Given the description of an element on the screen output the (x, y) to click on. 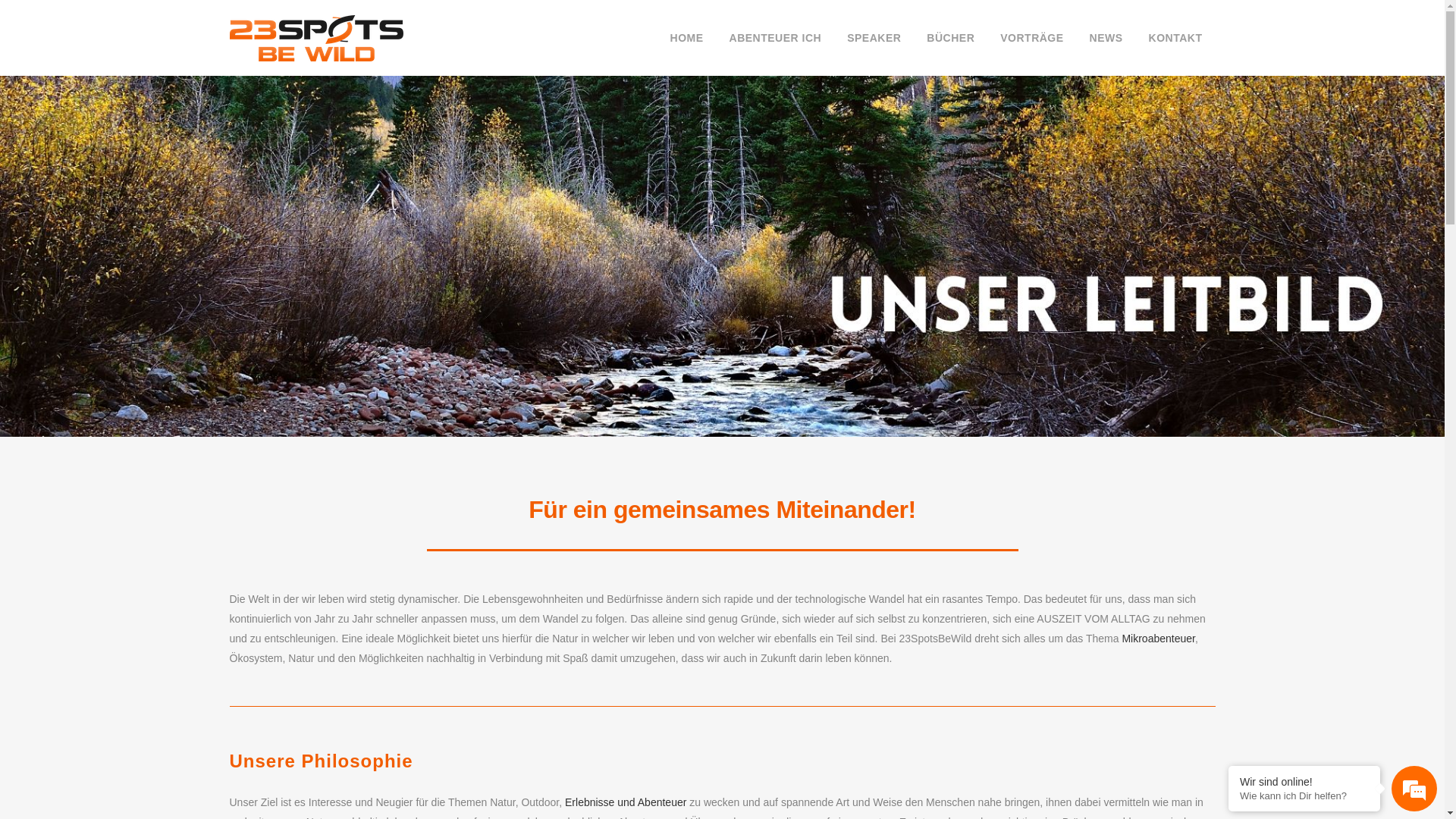
SPEAKER Element type: text (873, 37)
NEWS Element type: text (1105, 37)
Erlebnisse und Abenteuer Element type: text (625, 802)
HOME Element type: text (686, 37)
ABENTEUER ICH Element type: text (775, 37)
KONTAKT Element type: text (1175, 37)
Mikroabenteuer Element type: text (1158, 638)
